Given the description of an element on the screen output the (x, y) to click on. 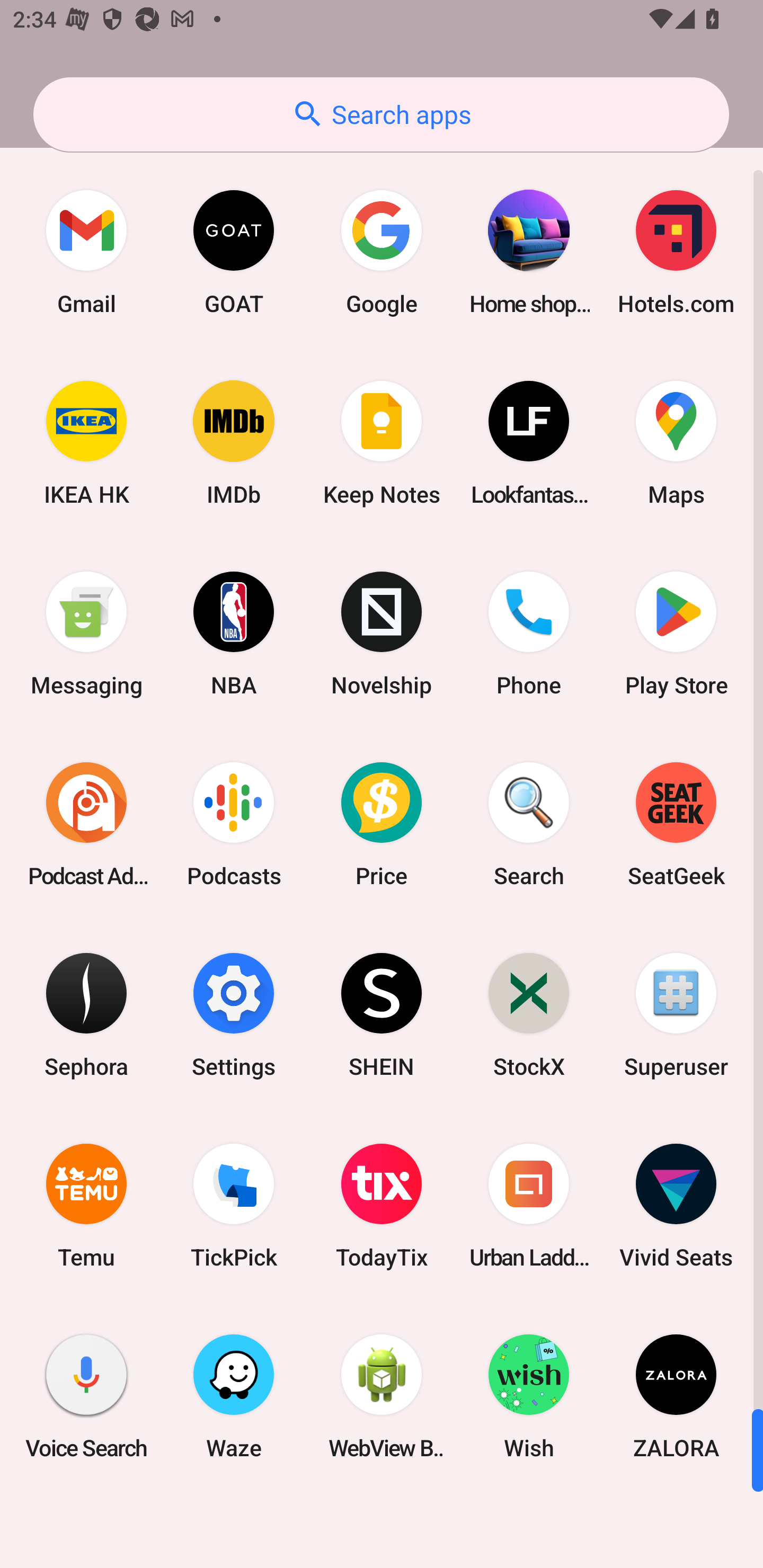
  Search apps (381, 114)
Gmail (86, 252)
GOAT (233, 252)
Google (381, 252)
Home shopping (528, 252)
Hotels.com (676, 252)
IKEA HK (86, 442)
IMDb (233, 442)
Keep Notes (381, 442)
Lookfantastic (528, 442)
Maps (676, 442)
Messaging (86, 633)
NBA (233, 633)
Novelship (381, 633)
Phone (528, 633)
Play Store (676, 633)
Podcast Addict (86, 823)
Podcasts (233, 823)
Price (381, 823)
Search (528, 823)
SeatGeek (676, 823)
Sephora (86, 1014)
Settings (233, 1014)
SHEIN (381, 1014)
StockX (528, 1014)
Superuser (676, 1014)
Temu (86, 1205)
TickPick (233, 1205)
TodayTix (381, 1205)
Urban Ladder (528, 1205)
Vivid Seats (676, 1205)
Voice Search (86, 1396)
Waze (233, 1396)
WebView Browser Tester (381, 1396)
Wish (528, 1396)
ZALORA (676, 1396)
